Given the description of an element on the screen output the (x, y) to click on. 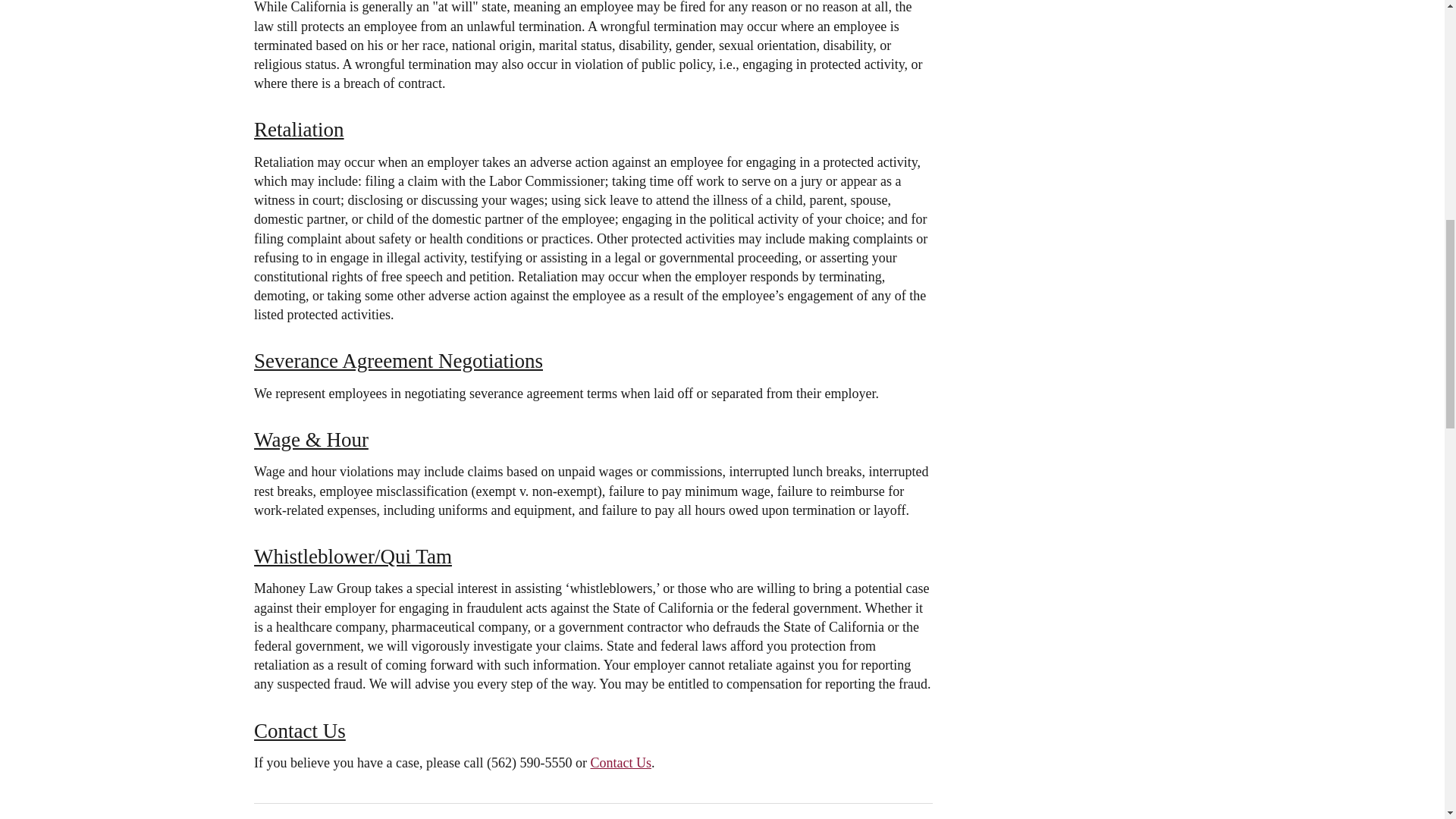
Contact Us (619, 762)
